Given the description of an element on the screen output the (x, y) to click on. 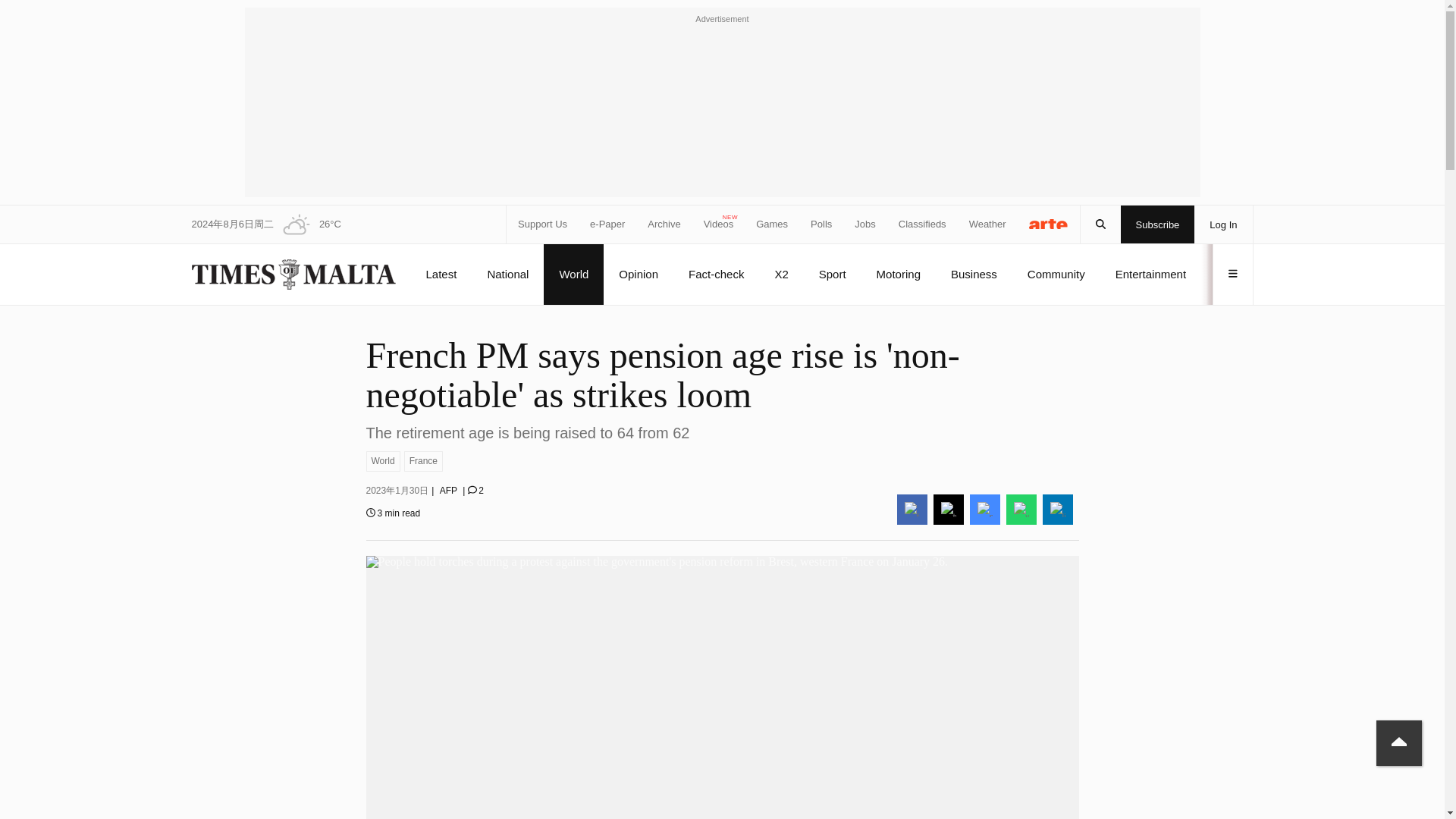
Classifieds (922, 224)
Community (1055, 274)
Subscribe (1158, 224)
World (381, 461)
View more articles by AFP (448, 490)
Additional weather information (306, 224)
Support Us (542, 224)
e-Paper (606, 224)
Entertainment (1150, 274)
Fact-check (716, 274)
2 (475, 490)
Weather (987, 224)
France (423, 461)
AFP (448, 490)
